Given the description of an element on the screen output the (x, y) to click on. 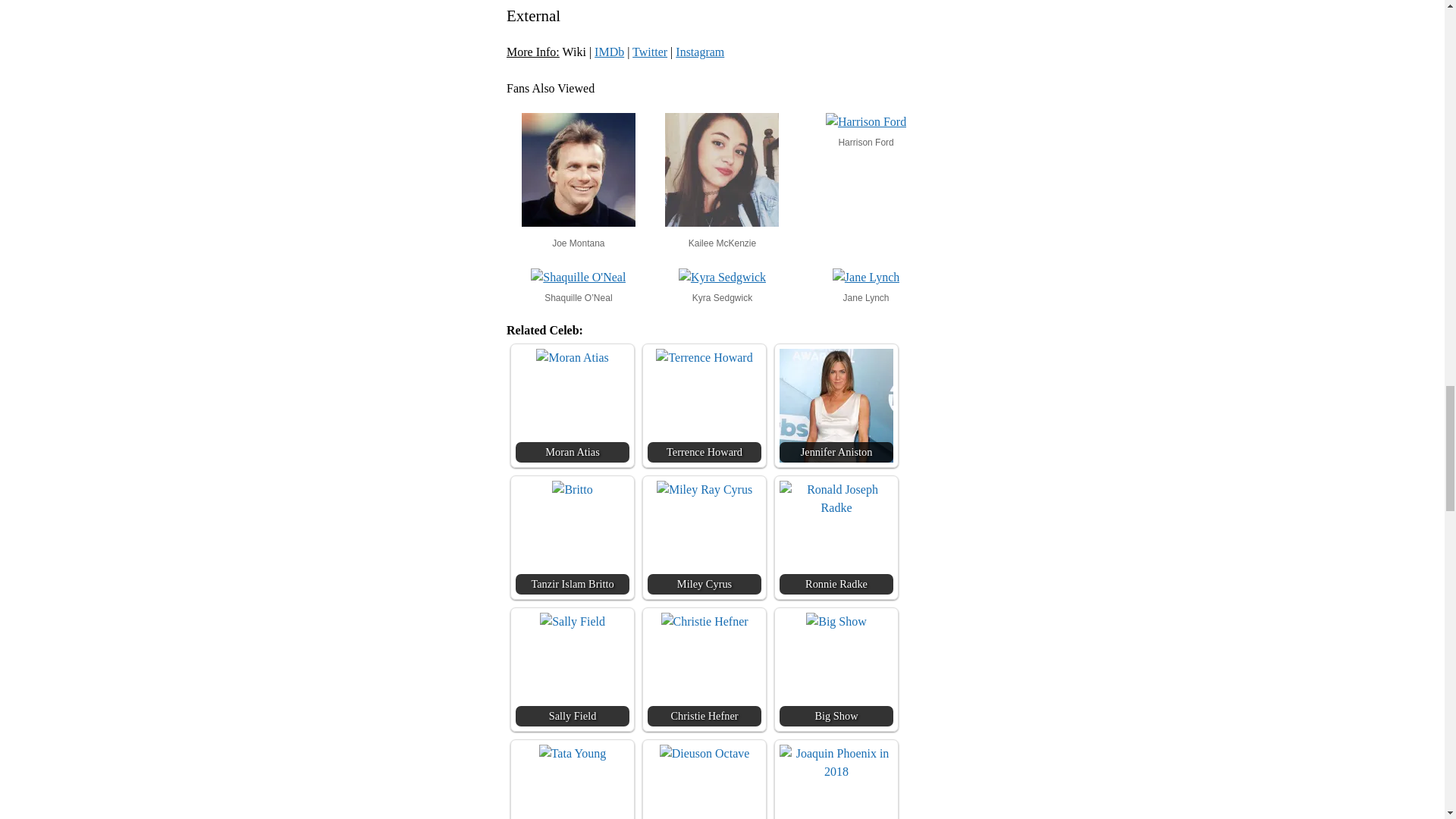
Ronnie Radke (835, 537)
Twitter (648, 51)
Moran Atias (571, 405)
Sarah Schreiber - Twitter (648, 51)
Moran Atias (571, 357)
Sarah Schreiber  (609, 51)
Miley Cyrus (704, 537)
Sarah Schreiber - Instagram (699, 51)
Terrence Howard (704, 357)
Jennifer Aniston (835, 405)
Miley Cyrus (704, 489)
Sally Field (571, 669)
Tanzir Islam Britto (571, 489)
Instagram (699, 51)
Tanzir Islam Britto (571, 537)
